Given the description of an element on the screen output the (x, y) to click on. 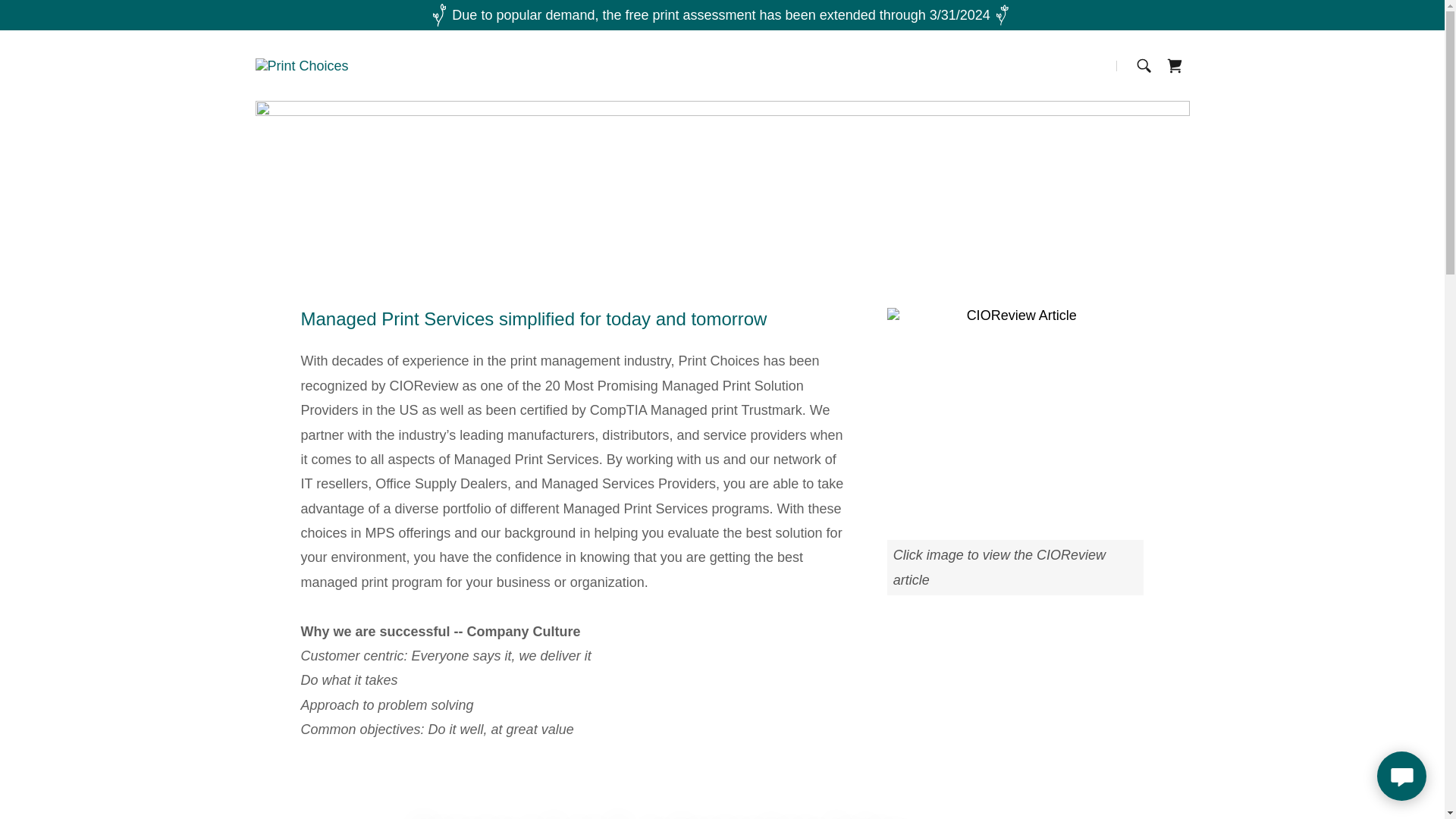
Print Choices (300, 64)
